Given the description of an element on the screen output the (x, y) to click on. 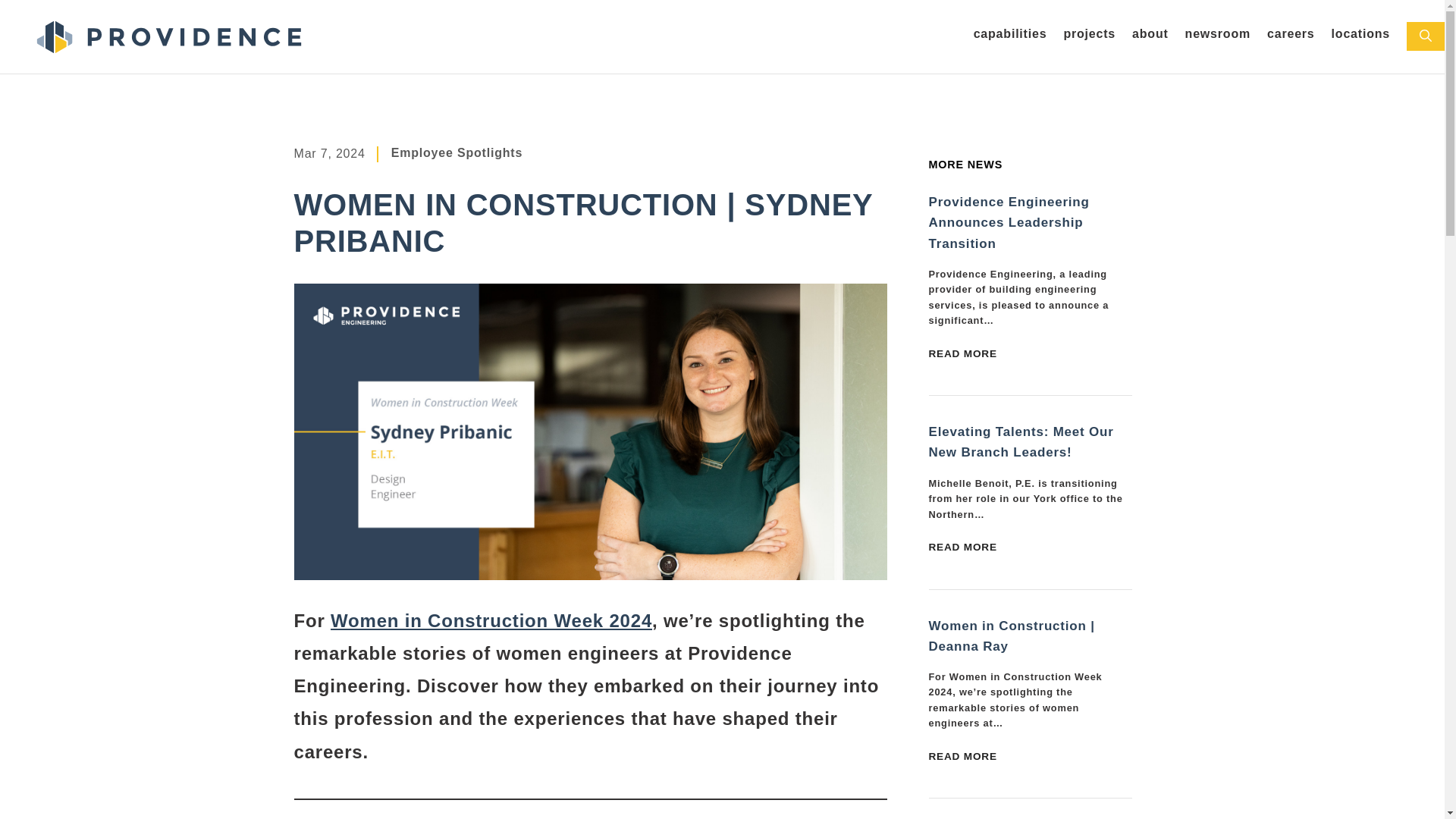
Women in Construction Week 2024 (491, 620)
careers (1290, 36)
capabilities (1010, 36)
Employee Spotlights (456, 152)
Providence Engineering Announces Leadership Transition (1008, 222)
projects (1088, 36)
READ MORE (961, 756)
READ MORE (961, 353)
locations (1361, 36)
Providence Engineering Announces Leadership Transition (961, 353)
Elevating Talents: Meet Our New Branch Leaders! (1020, 442)
newsroom (1217, 36)
Elevating Talents: Meet Our New Branch Leaders! (961, 547)
about (1150, 36)
READ MORE (961, 547)
